Given the description of an element on the screen output the (x, y) to click on. 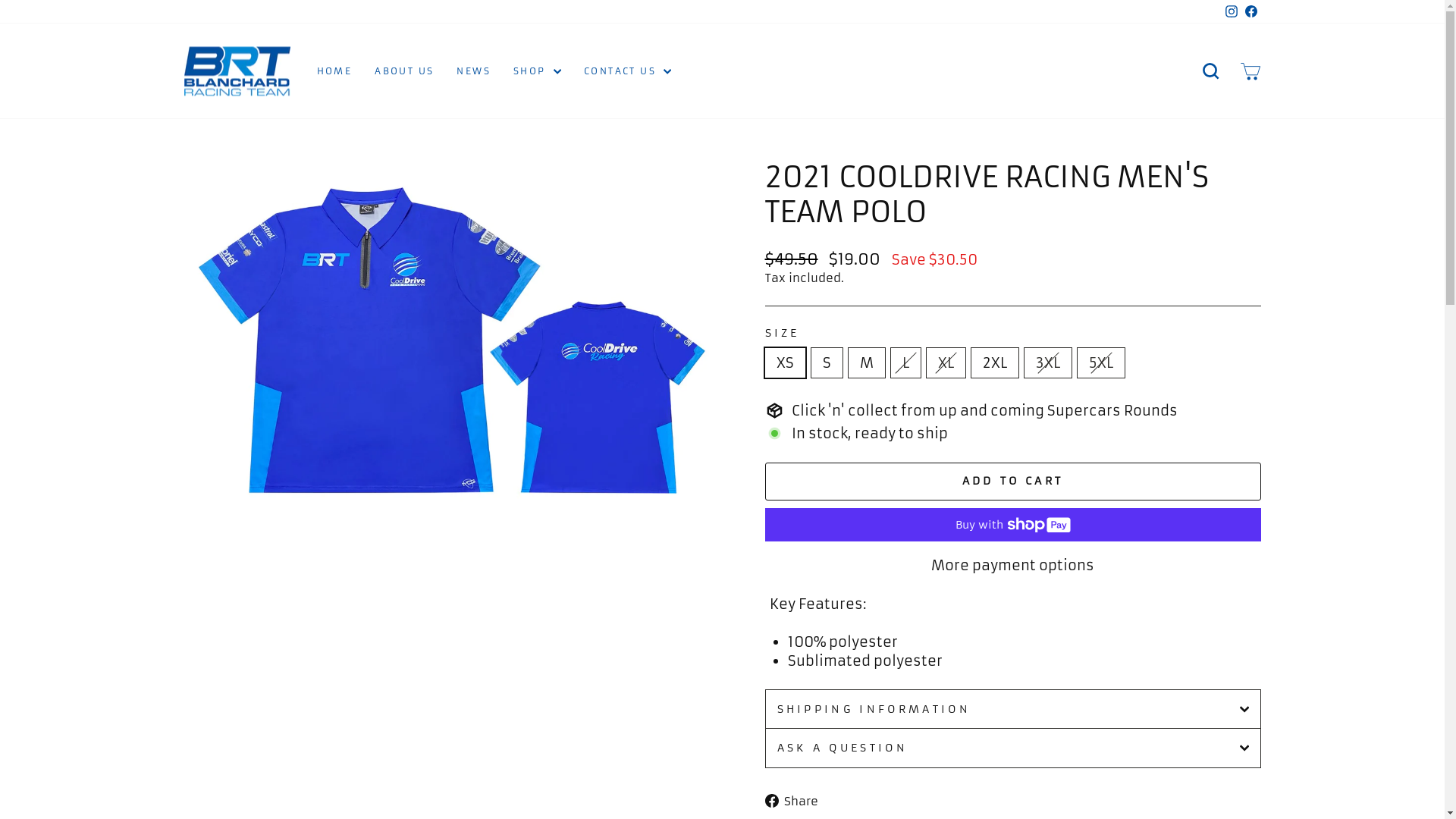
More payment options Element type: text (1012, 565)
ICON-SEARCH
SEARCH Element type: text (1210, 70)
ABOUT US Element type: text (404, 71)
Share
Share on Facebook Element type: text (796, 799)
ASK A QUESTION Element type: text (1012, 747)
HOME Element type: text (333, 71)
ADD TO CART Element type: text (1012, 481)
Facebook Element type: text (1250, 11)
CART Element type: text (1249, 70)
NEWS Element type: text (473, 71)
SHIPPING INFORMATION Element type: text (1012, 708)
instagram
Instagram Element type: text (1230, 11)
